Given the description of an element on the screen output the (x, y) to click on. 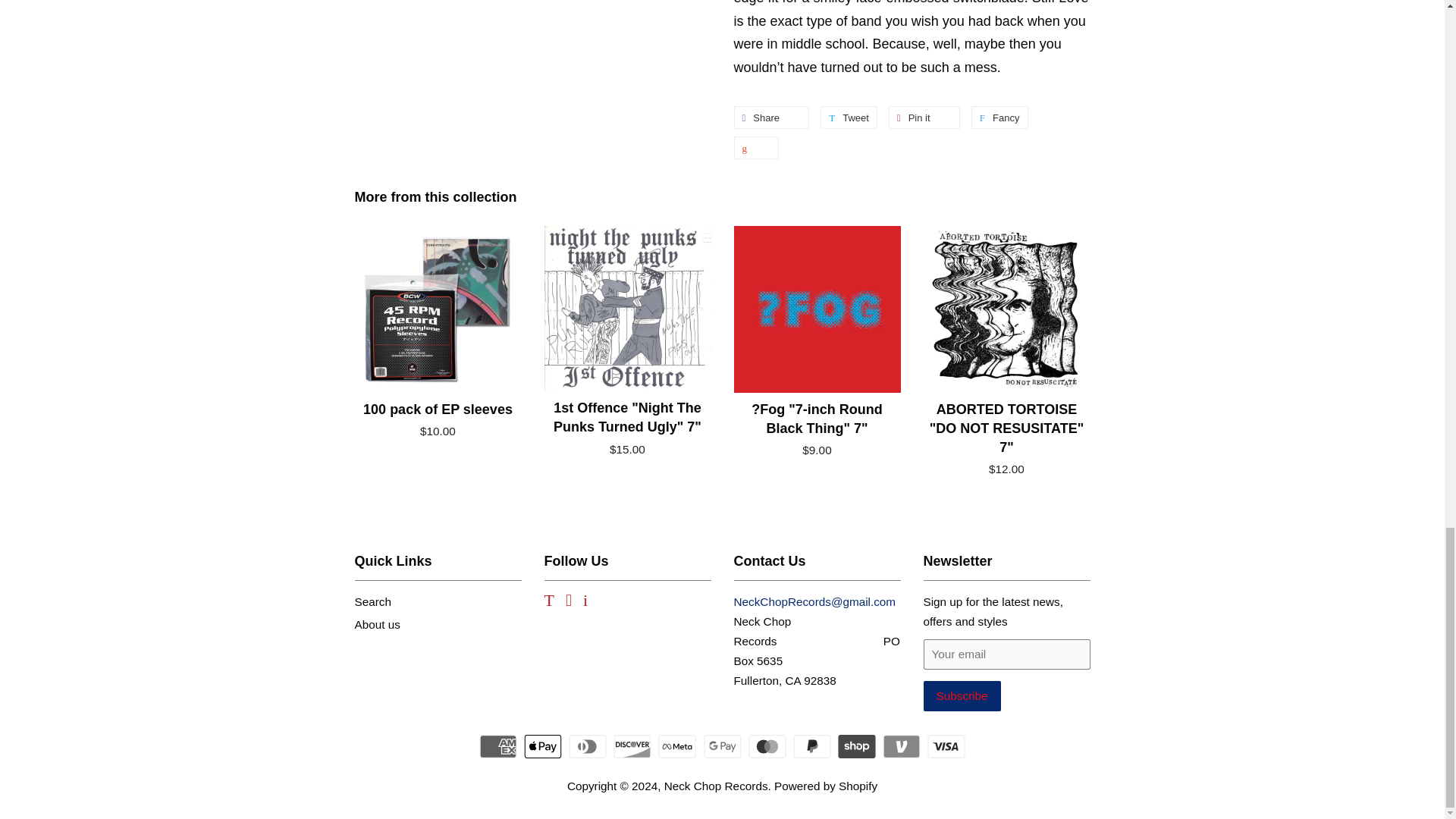
Share on Facebook (771, 117)
Add to Fancy (999, 117)
Pin on Pinterest (999, 117)
Tweet on Twitter (771, 117)
Subscribe (923, 117)
